Given the description of an element on the screen output the (x, y) to click on. 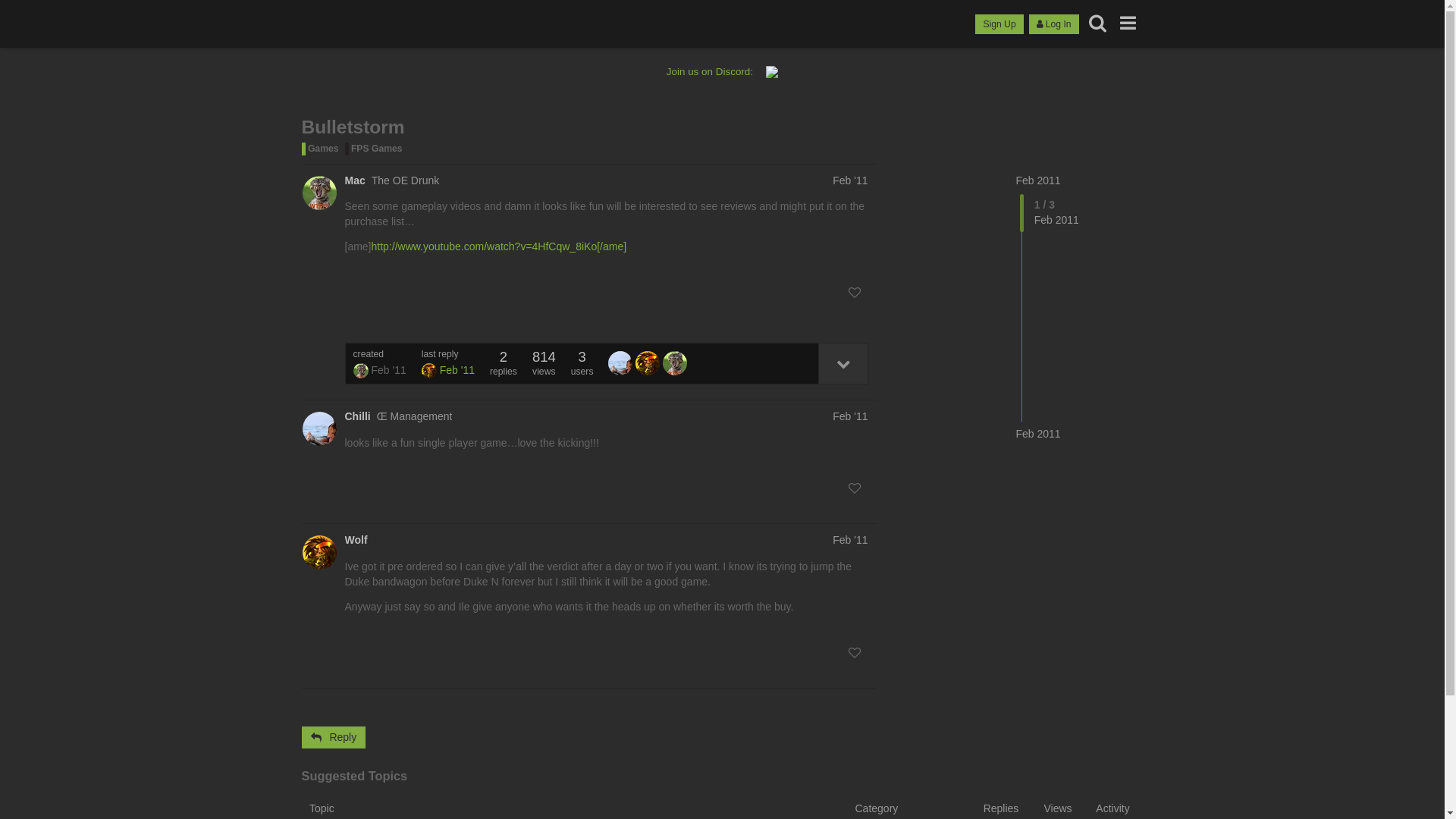
Feb '11 Element type: text (849, 416)
last reply
Feb '11 Element type: text (447, 363)
Mac Element type: text (354, 180)
Mac Element type: hover (360, 370)
Wolf Element type: hover (647, 363)
Wolf Element type: text (355, 539)
Feb '11 Element type: text (849, 180)
Sign Up Element type: text (998, 24)
Reply Element type: text (333, 737)
Feb 2011 Element type: text (1038, 180)
Bulletstorm Element type: text (352, 126)
Log In Element type: text (1054, 24)
Wolf Element type: hover (318, 552)
FPS Games Element type: text (374, 148)
Feb 2011 Element type: text (1038, 434)
toggle topic details Element type: hover (841, 363)
Mac Element type: hover (674, 363)
Chilli Element type: hover (318, 428)
Feb '11 Element type: text (849, 539)
Join us on Discord: Element type: text (722, 71)
http://www.youtube.com/watch?v=4HfCqw_8iKo[/ame] Element type: text (499, 246)
search topics, posts, users, or categories Element type: hover (1097, 22)
Chilli Element type: text (357, 416)
Wolf Element type: hover (428, 370)
Games Element type: text (321, 148)
The OE Drunk Element type: text (405, 180)
Chilli Element type: hover (620, 363)
go to another topic list or category Element type: hover (1128, 22)
Mac Element type: hover (318, 192)
